Given the description of an element on the screen output the (x, y) to click on. 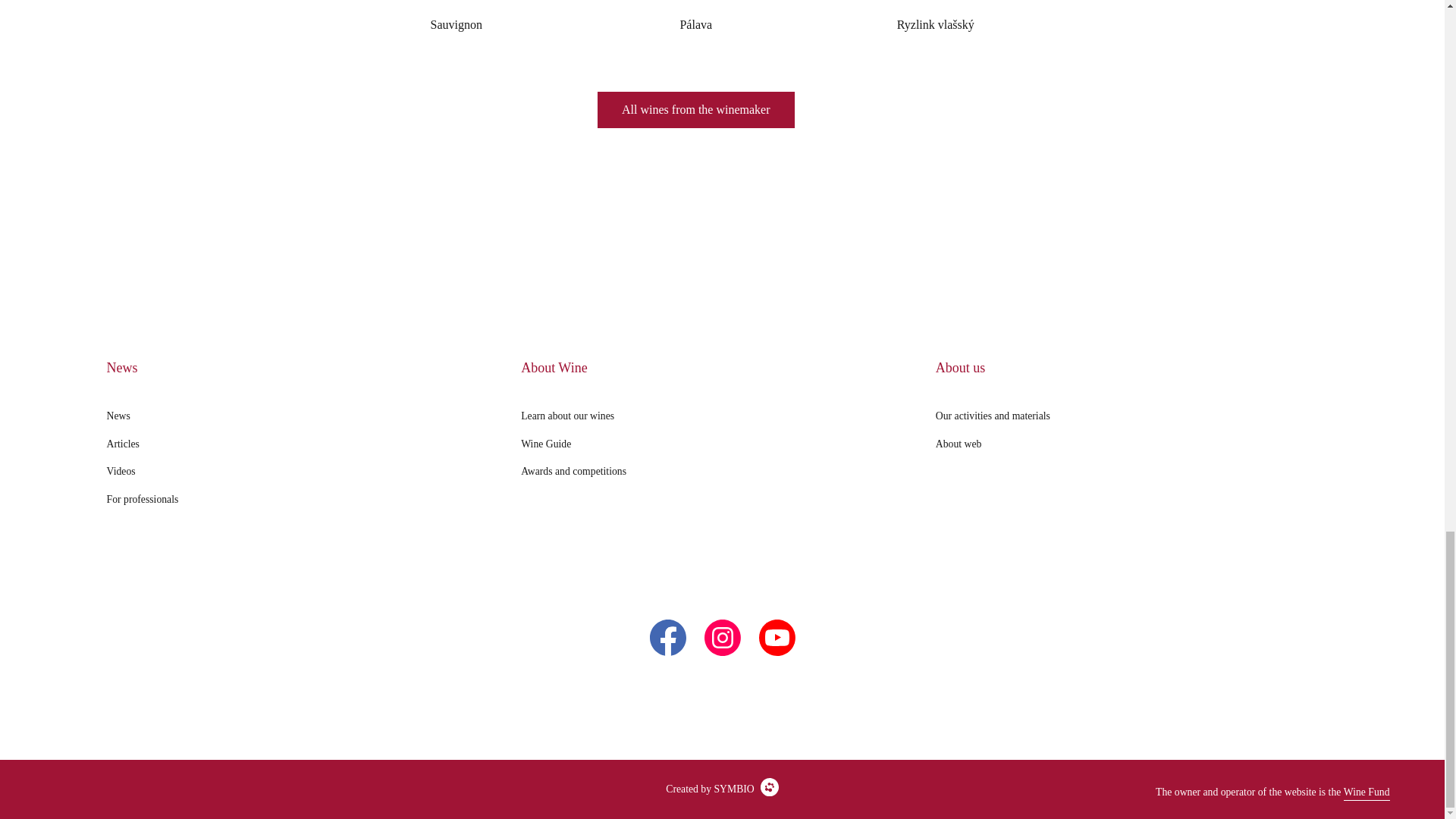
About web (958, 444)
Sauvignon (456, 21)
Our activities and materials (992, 416)
Wine Guide (545, 444)
Articles (122, 444)
News (118, 416)
For professionals (142, 499)
Learn about our wines (567, 416)
All wines from the winemaker (695, 109)
Awards and competitions (573, 471)
Videos (120, 471)
